Given the description of an element on the screen output the (x, y) to click on. 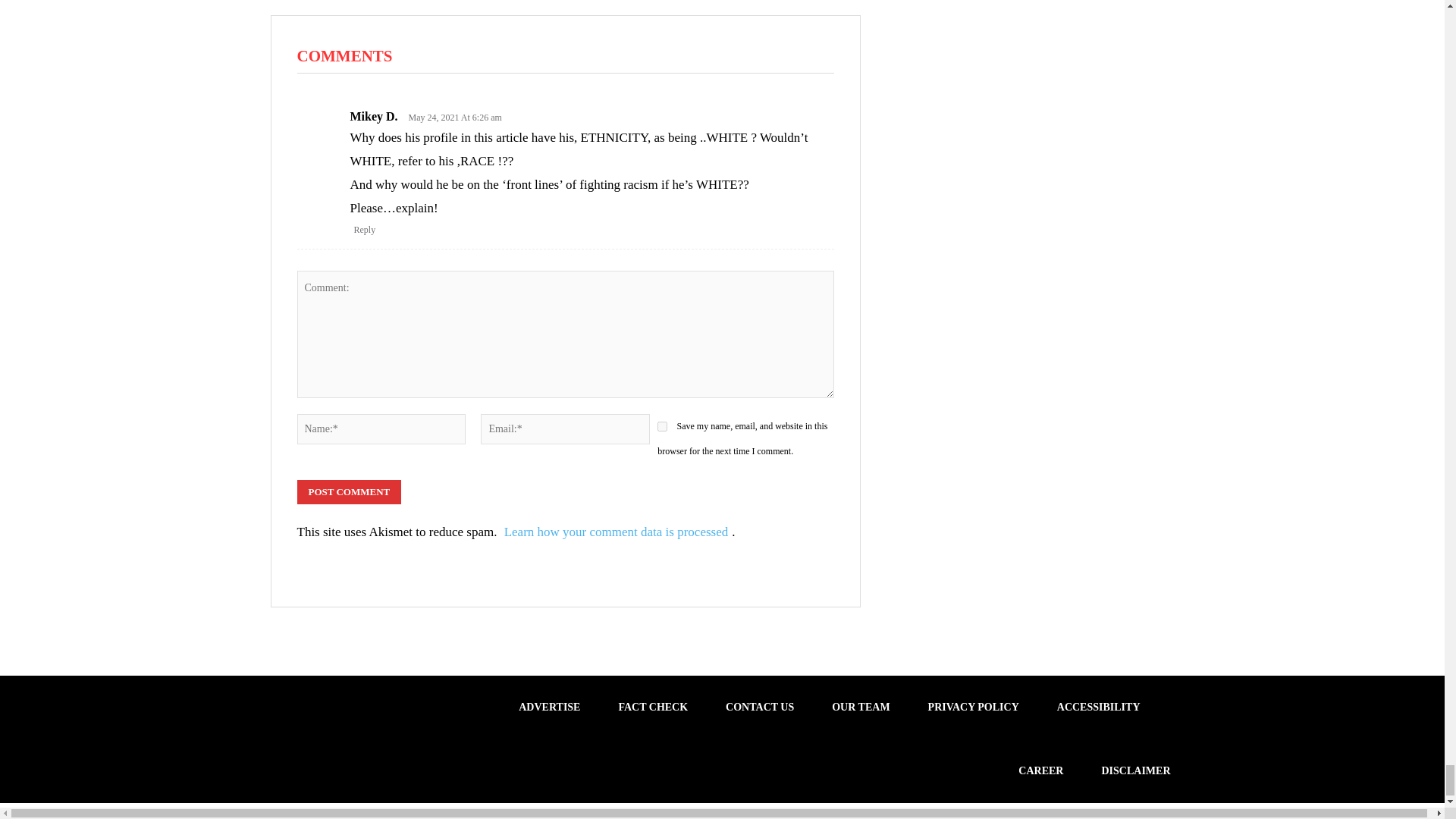
Post Comment (349, 491)
yes (662, 426)
